Given the description of an element on the screen output the (x, y) to click on. 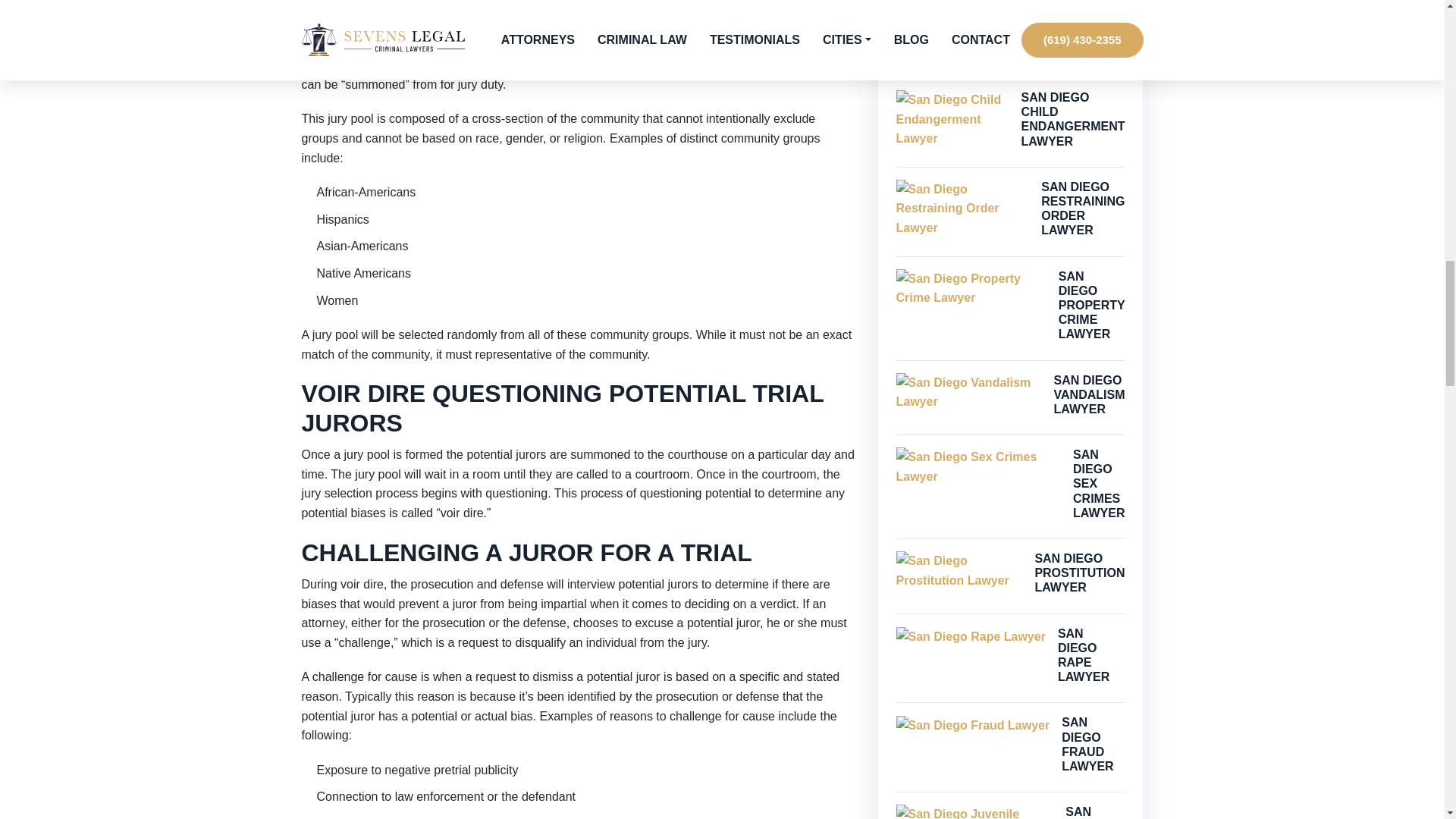
San Diego Child Abuse Lawyer (978, 12)
San Diego Sex Crimes Lawyer (978, 466)
San Diego Property Crime Lawyer (971, 288)
San Diego Vandalism Lawyer (969, 392)
San Diego Restraining Order Lawyer (962, 208)
San Diego Child Endangerment Lawyer (952, 119)
